Given the description of an element on the screen output the (x, y) to click on. 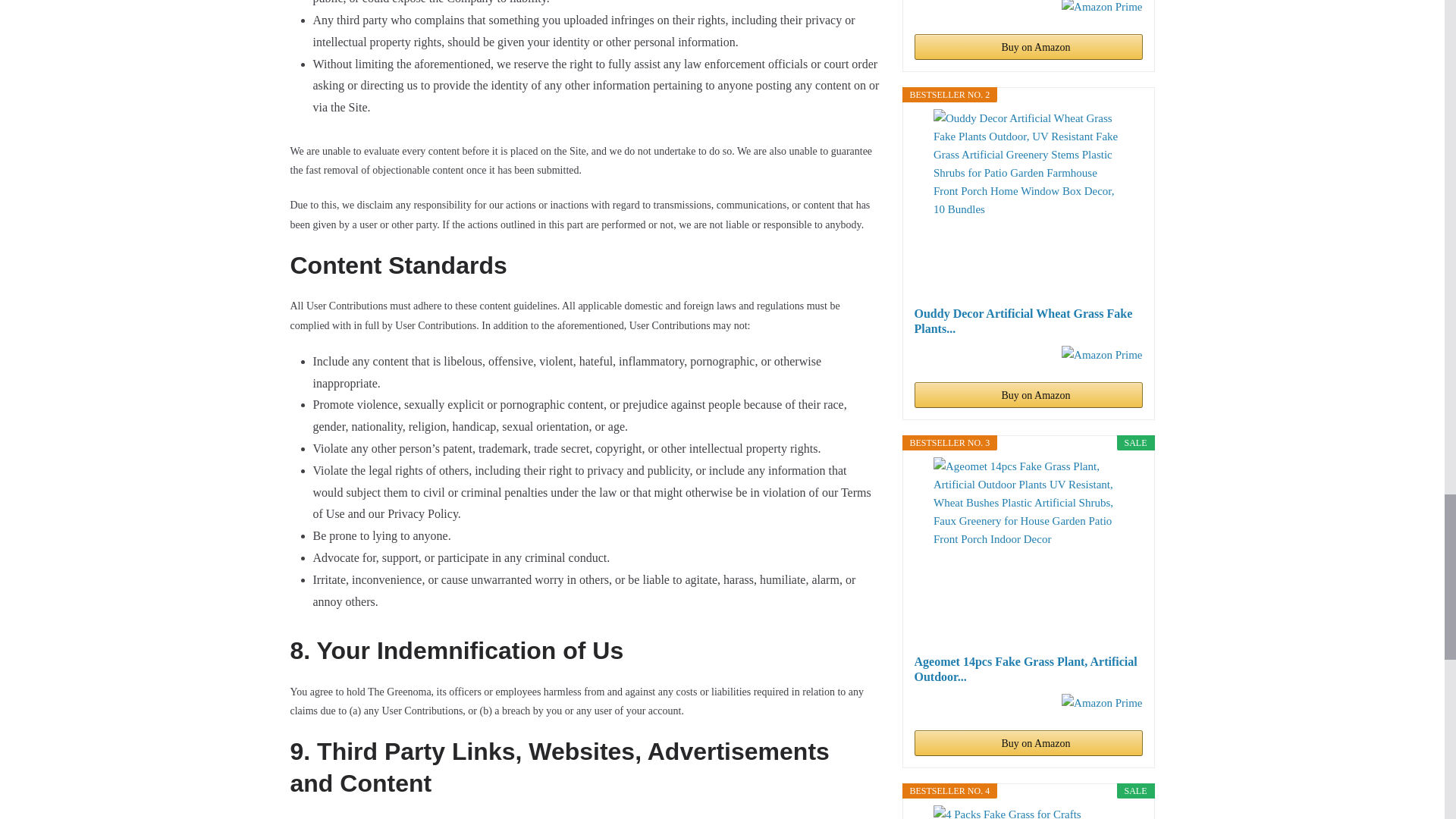
Amazon Prime (1101, 7)
Ouddy Decor Artificial Wheat Grass Fake Plants... (1028, 321)
Buy on Amazon (1028, 46)
